Given the description of an element on the screen output the (x, y) to click on. 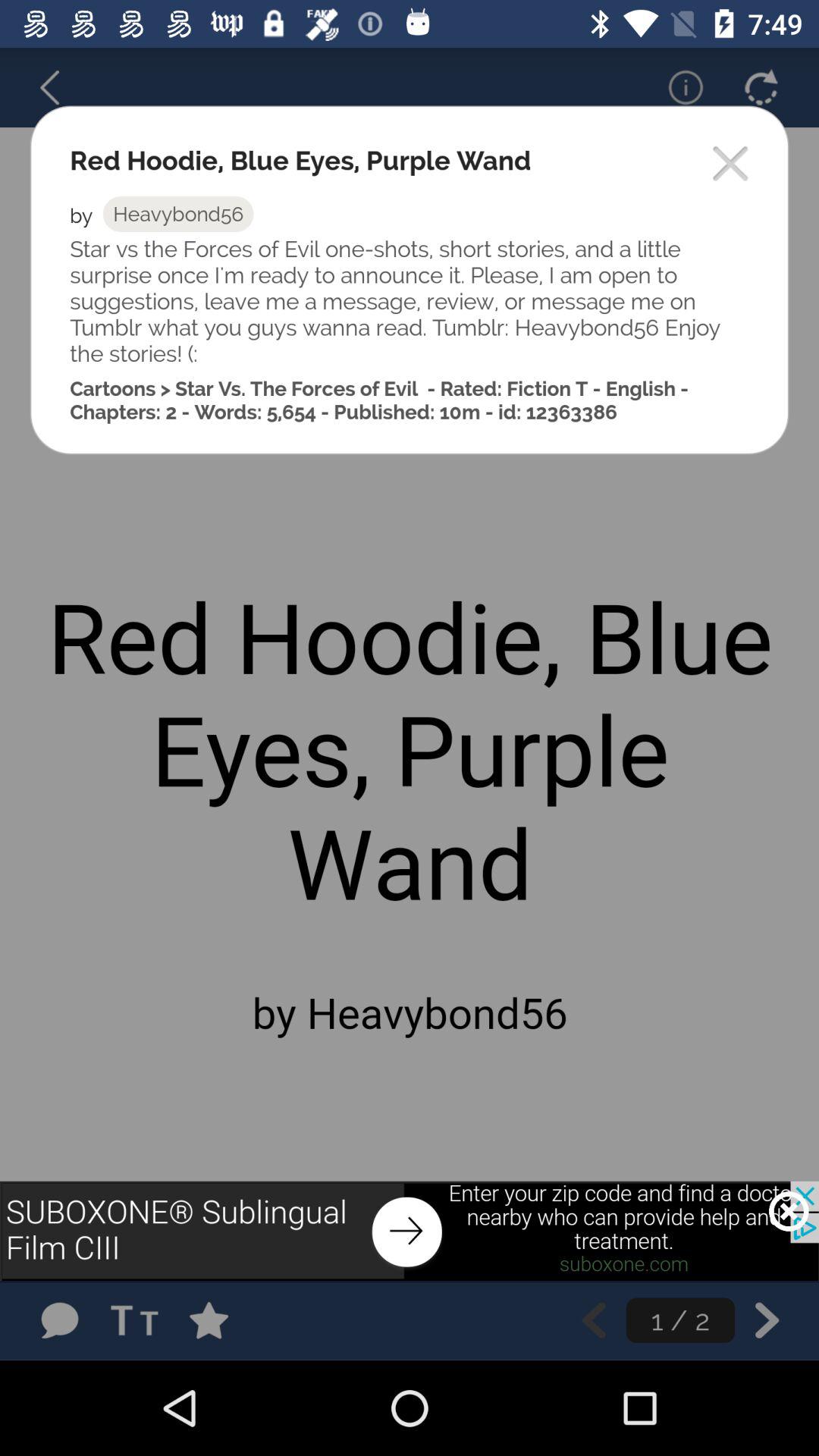
refresh page (761, 87)
